Given the description of an element on the screen output the (x, y) to click on. 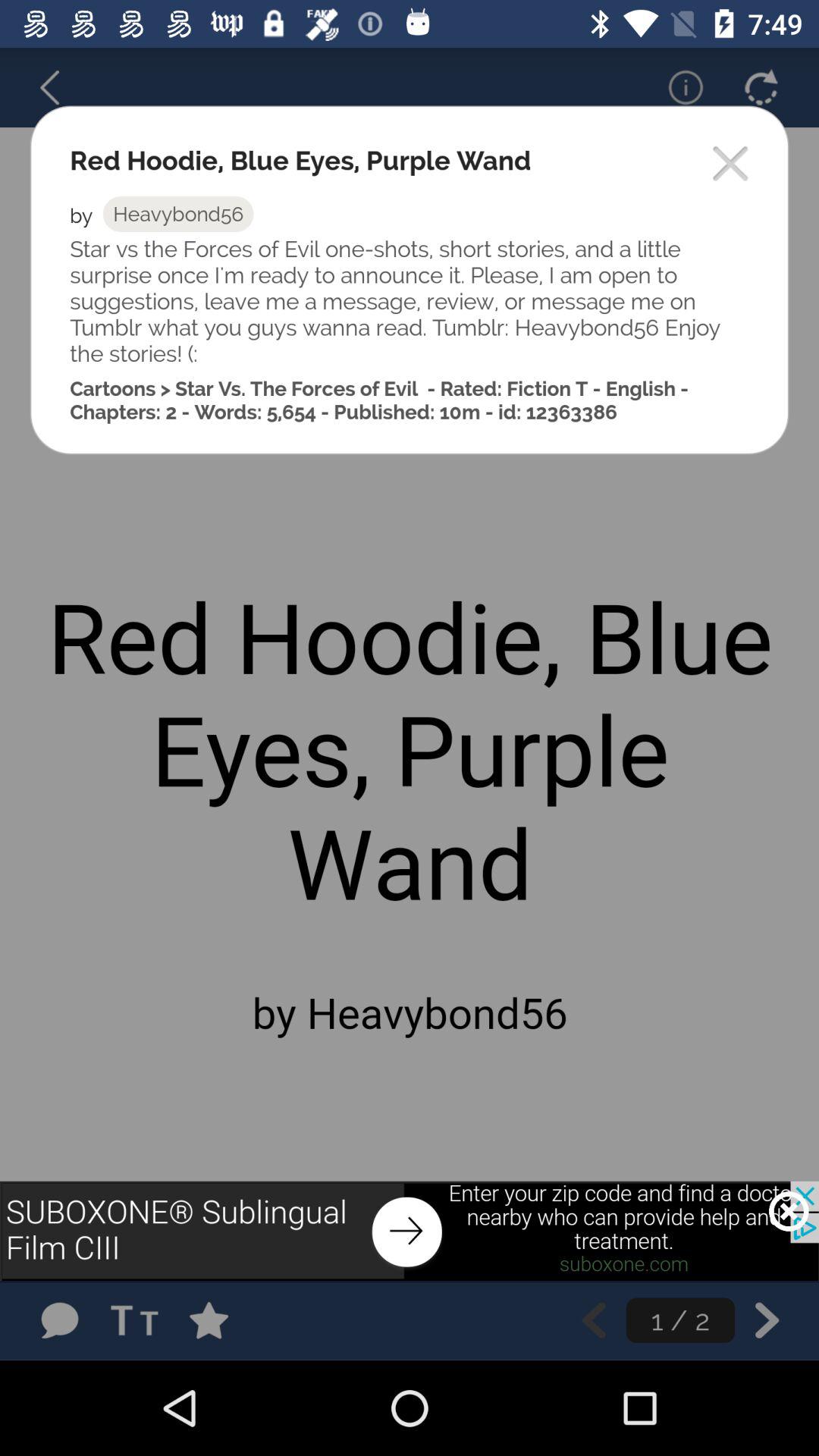
refresh page (761, 87)
